Given the description of an element on the screen output the (x, y) to click on. 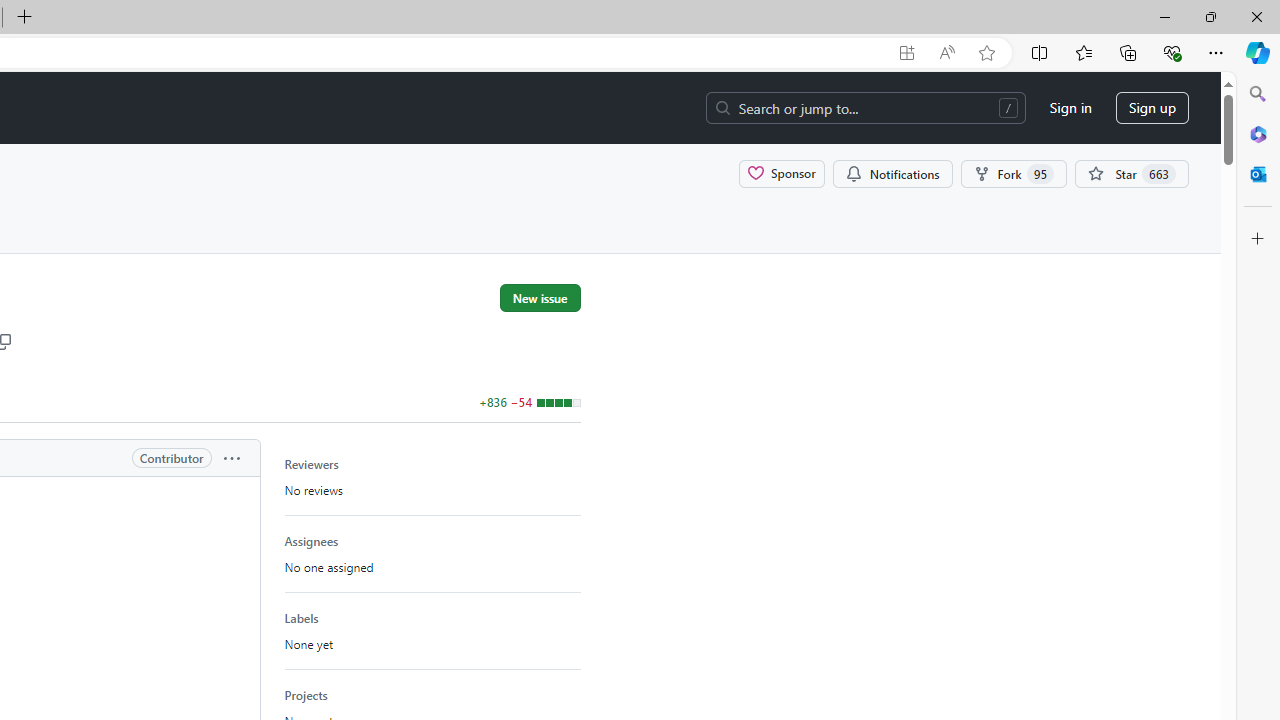
You must be signed in to change notification settings (892, 173)
App available. Install GitHub (906, 53)
Fork 95 (1013, 173)
Sponsor (781, 173)
Show options (231, 458)
